Given the description of an element on the screen output the (x, y) to click on. 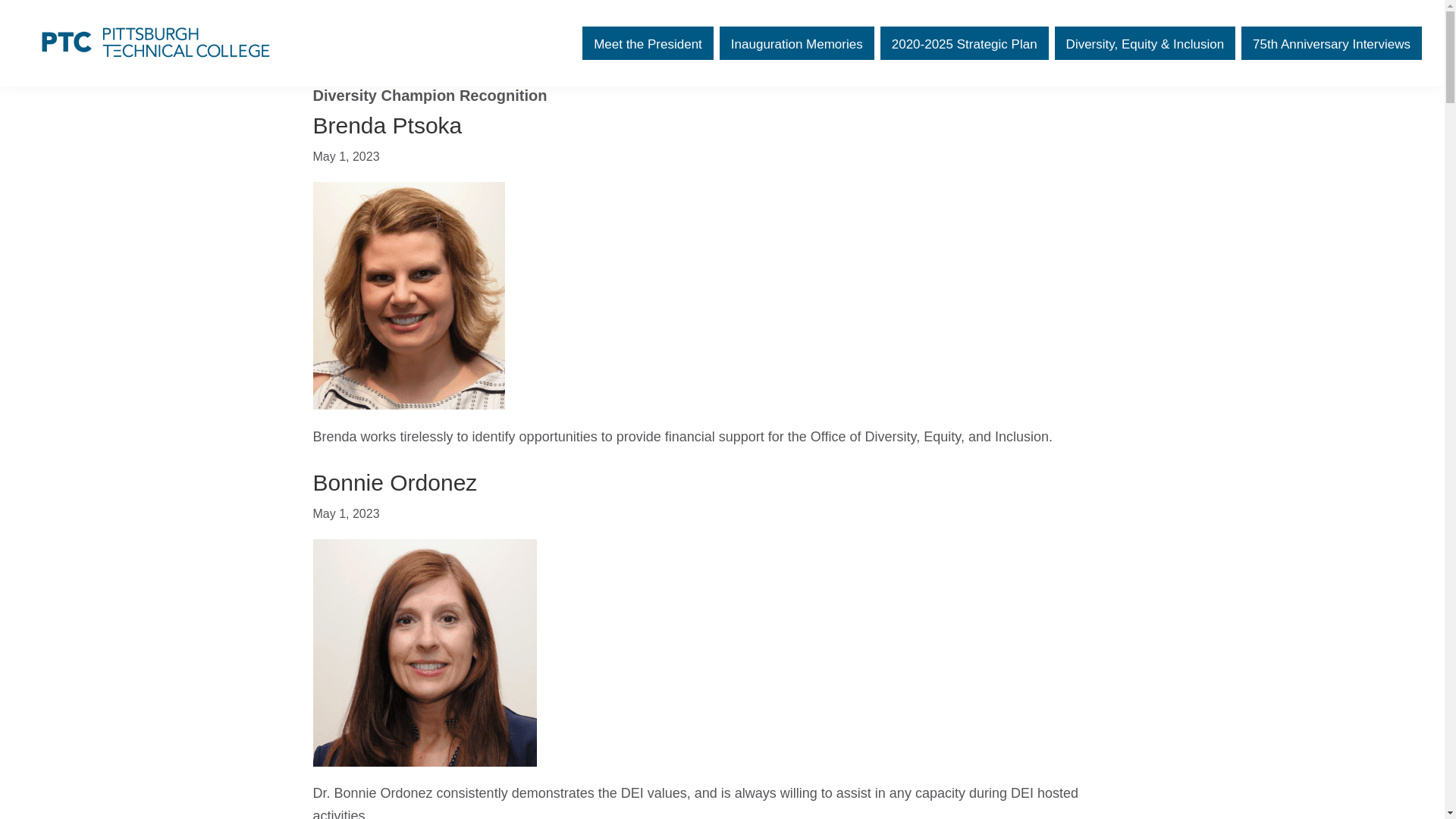
Brenda Ptsoka (387, 125)
2020-2025 Strategic Plan (964, 43)
75th Anniversary Interviews (1331, 43)
Bonnie Ordonez (395, 482)
Inauguration Memories (797, 43)
Meet the President (647, 43)
